Given the description of an element on the screen output the (x, y) to click on. 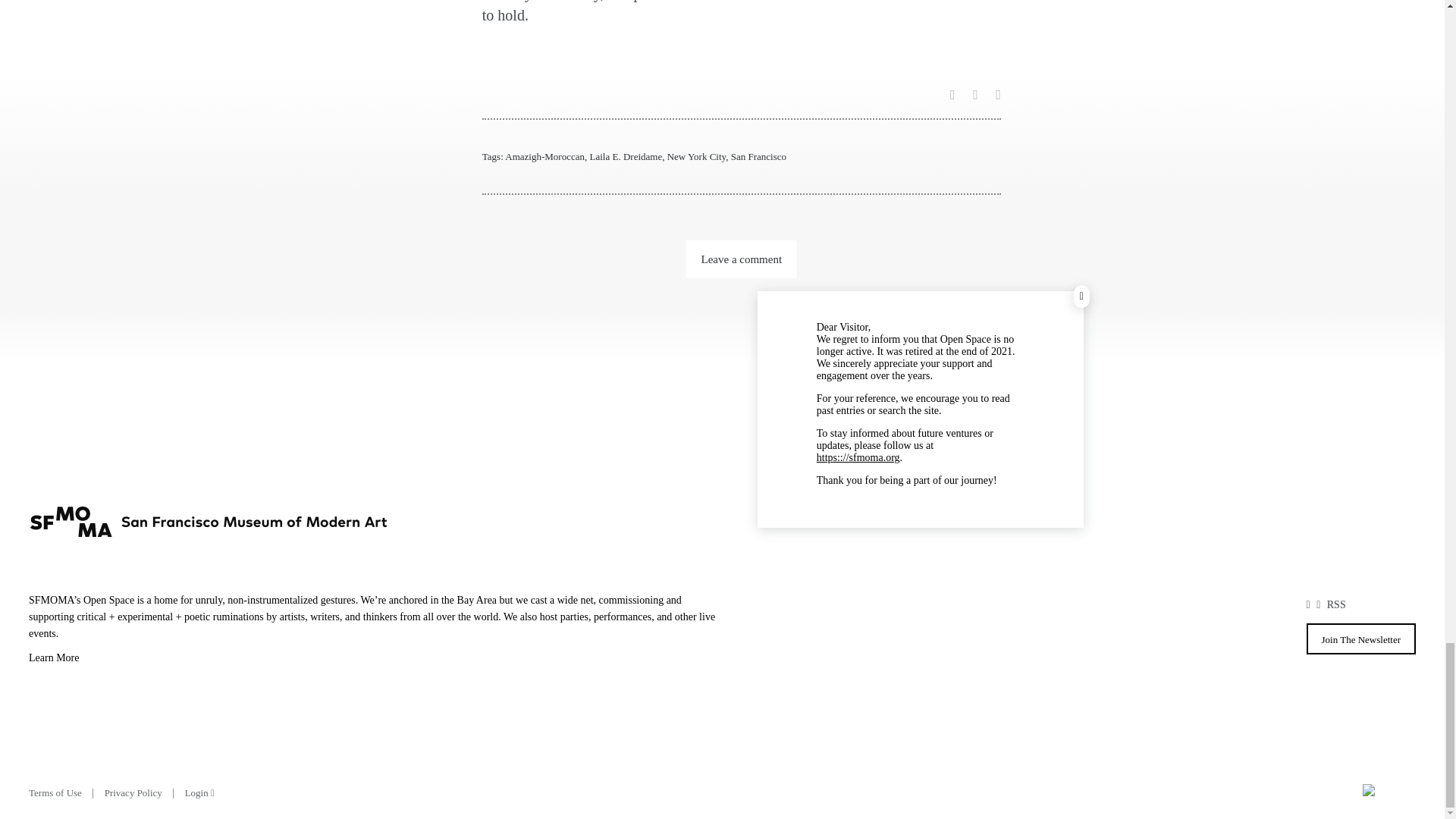
Login (199, 792)
Laila E. Dreidame (625, 156)
San Francisco (758, 156)
RSS (1335, 604)
New York City (696, 156)
Terms of Use (55, 792)
Privacy Policy (132, 792)
Amazigh-Moroccan (545, 156)
Learn More (375, 660)
Join The Newsletter (1360, 638)
